Given the description of an element on the screen output the (x, y) to click on. 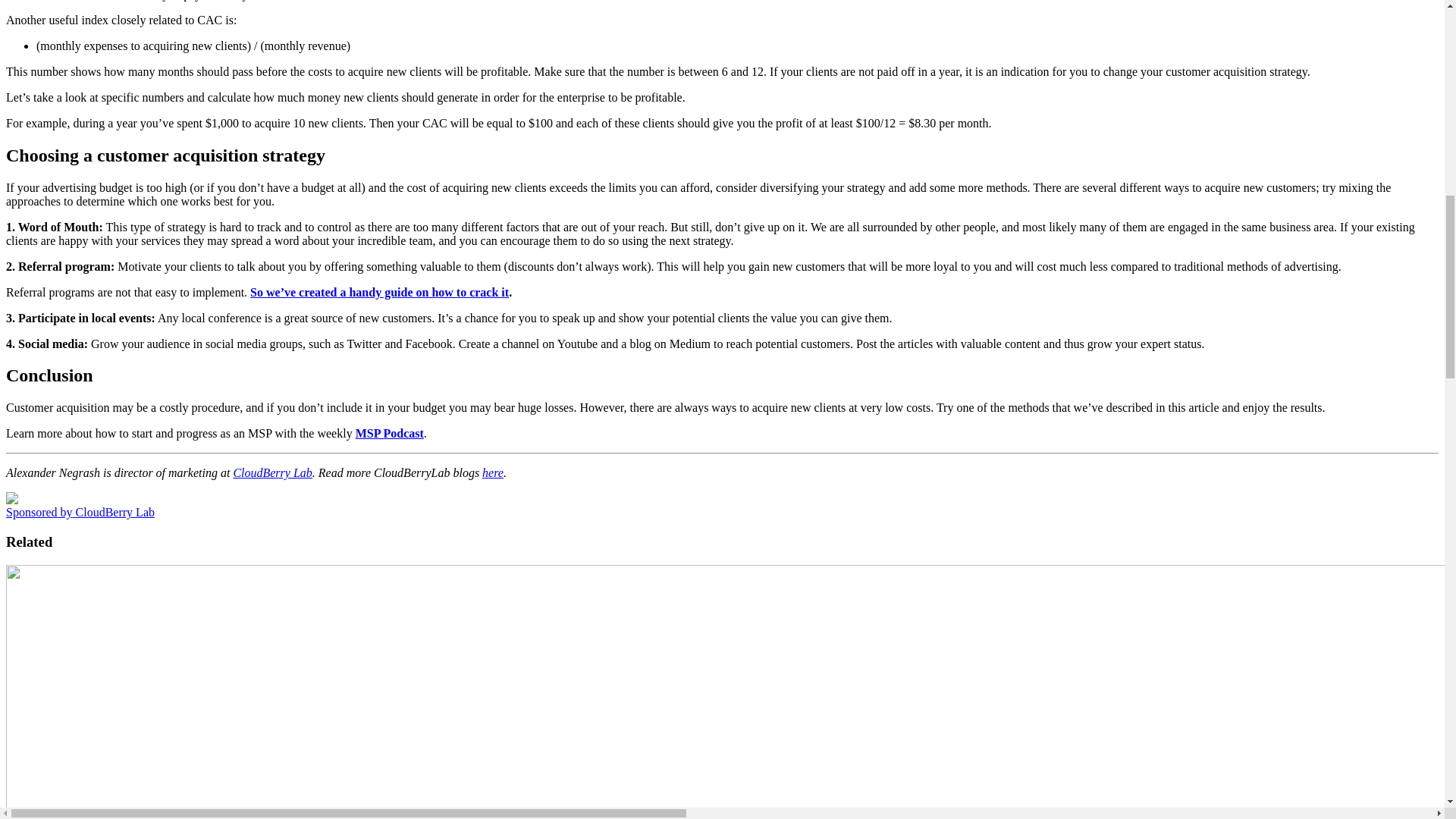
here (492, 472)
MSP Podcast (389, 432)
Sponsored by CloudBerry Lab (79, 512)
CloudBerry Lab (271, 472)
